Given the description of an element on the screen output the (x, y) to click on. 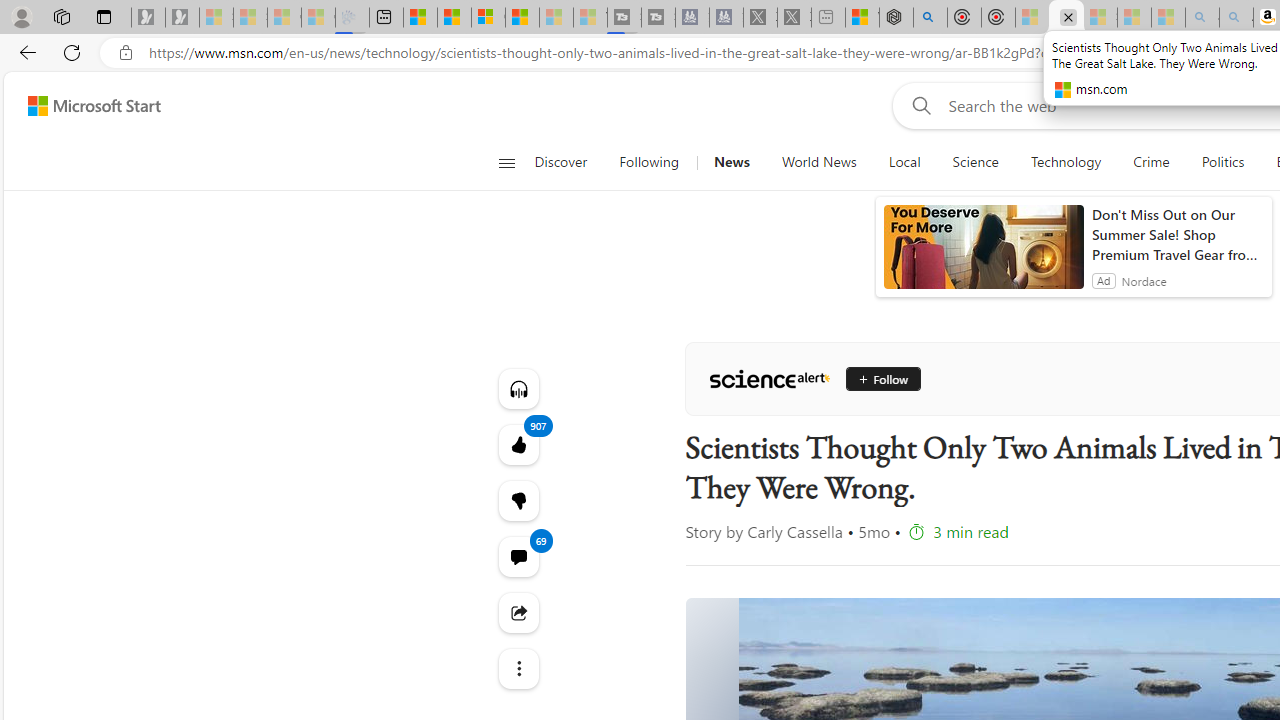
Share this story (517, 612)
World News (818, 162)
Overview (488, 17)
Class: button-glyph (505, 162)
Politics (1222, 162)
